Given the description of an element on the screen output the (x, y) to click on. 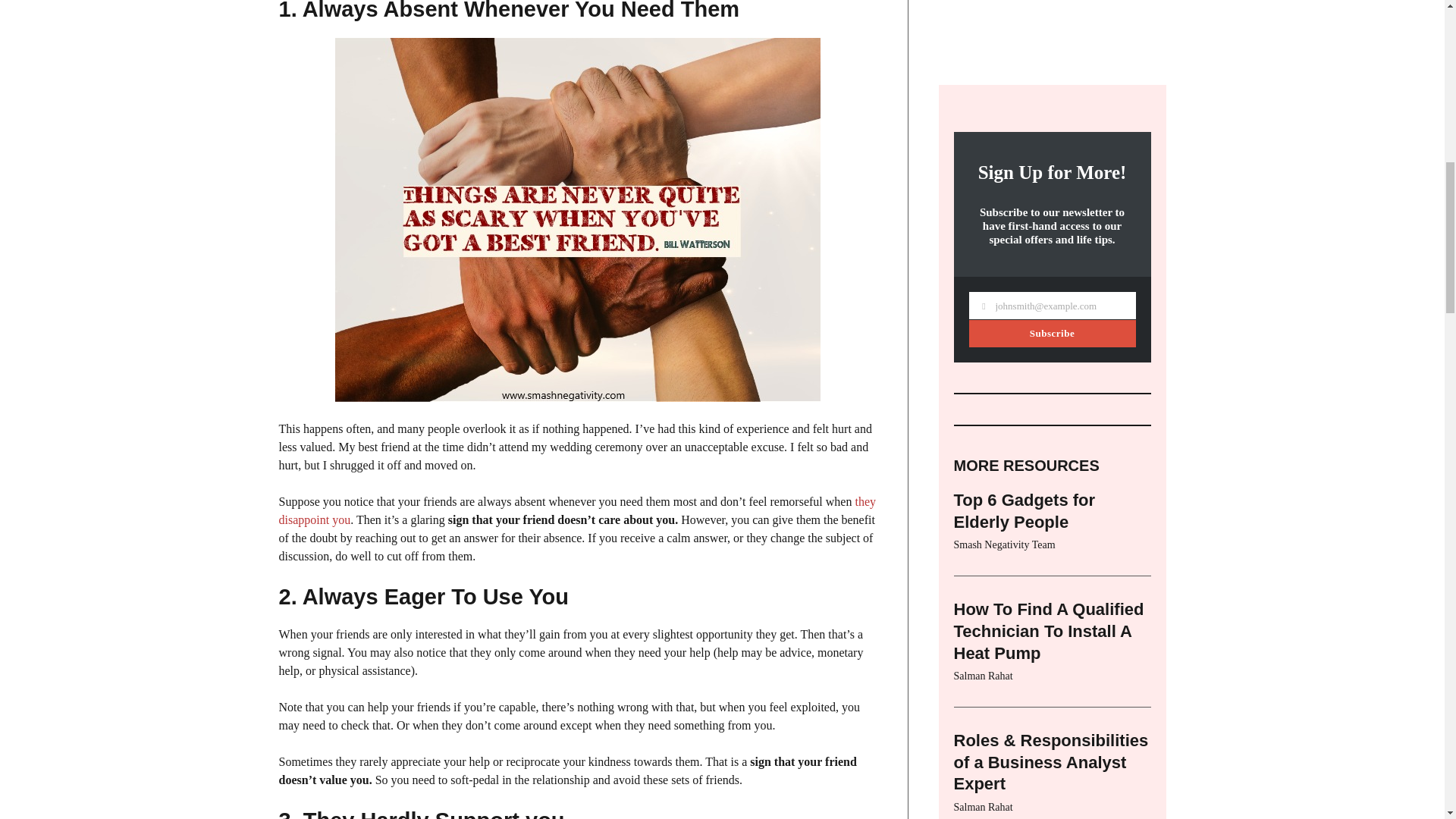
Salman Rahat (983, 212)
Smash Negativity Team (1004, 81)
Salman Rahat (983, 343)
How To Find A Qualified Technician To Install A Heat Pump (1048, 167)
Salman Rahat (983, 474)
they disappoint you (577, 510)
Top 6 Gadgets for Elderly People (1024, 47)
